Given the description of an element on the screen output the (x, y) to click on. 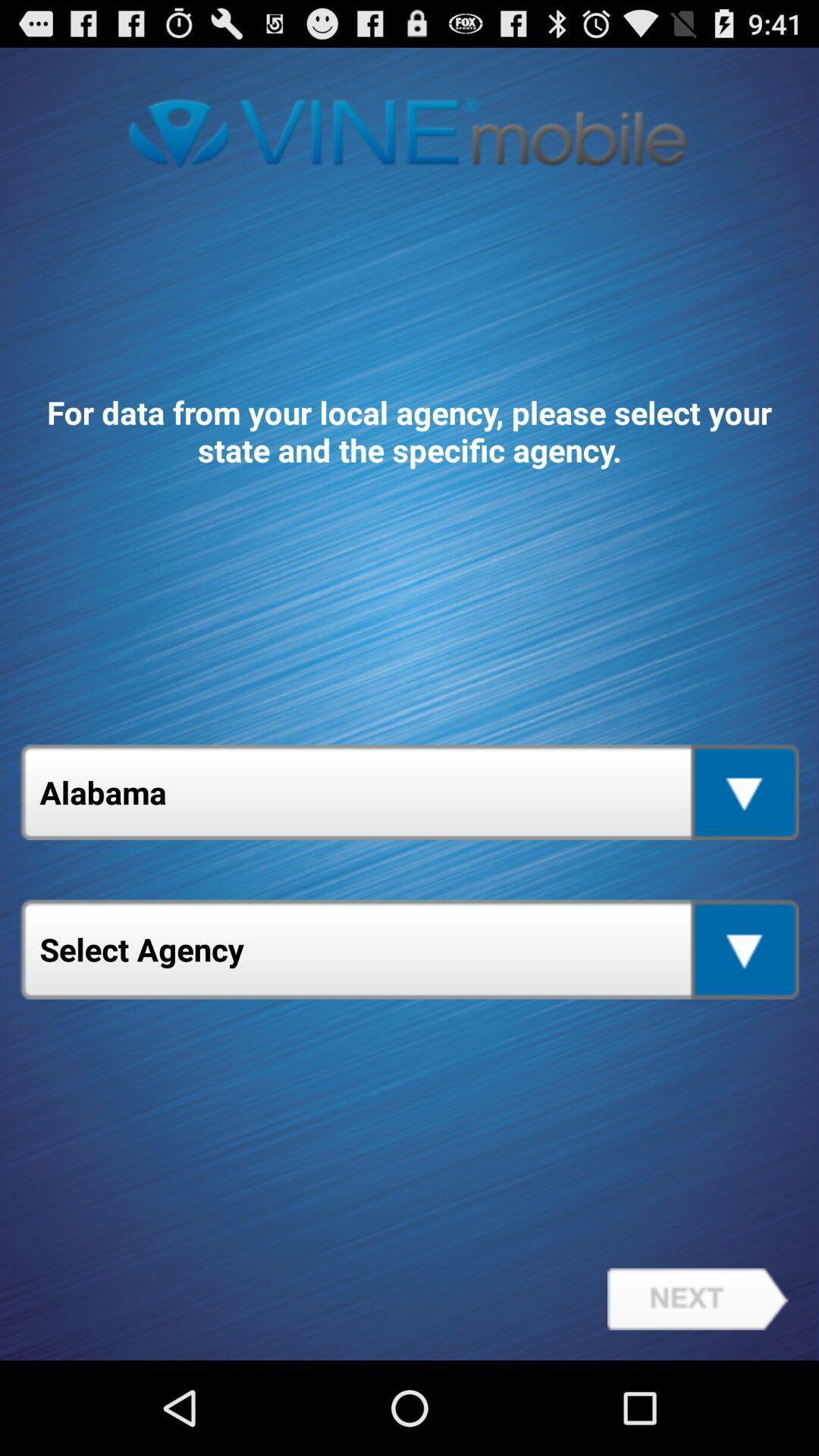
jump to the alabama item (409, 792)
